Given the description of an element on the screen output the (x, y) to click on. 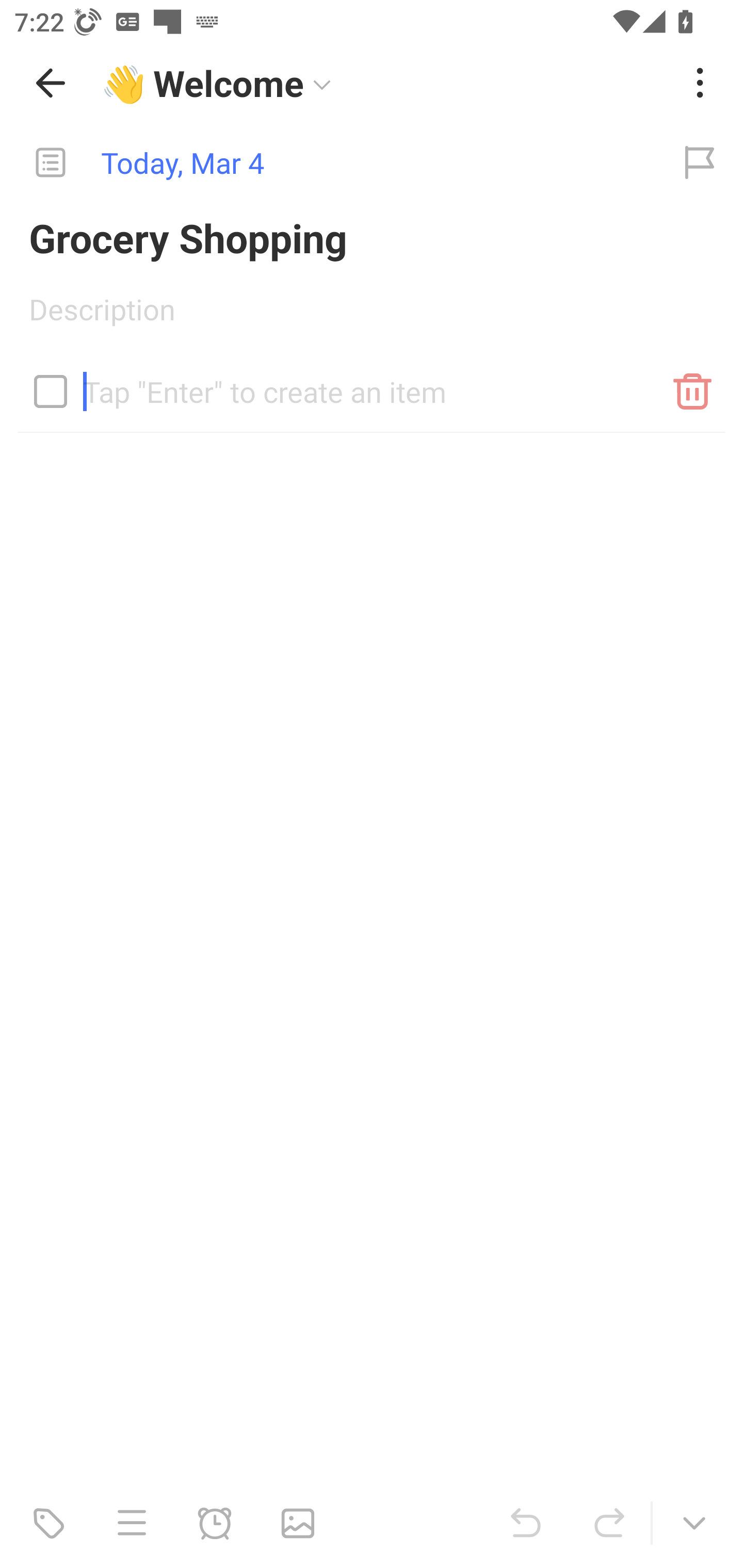
👋 Welcome (384, 82)
Today, Mar 4  (328, 163)
Grocery Shopping (371, 237)
Description (371, 315)
  (50, 390)
Tap "Enter" to create an item (371, 383)
